Given the description of an element on the screen output the (x, y) to click on. 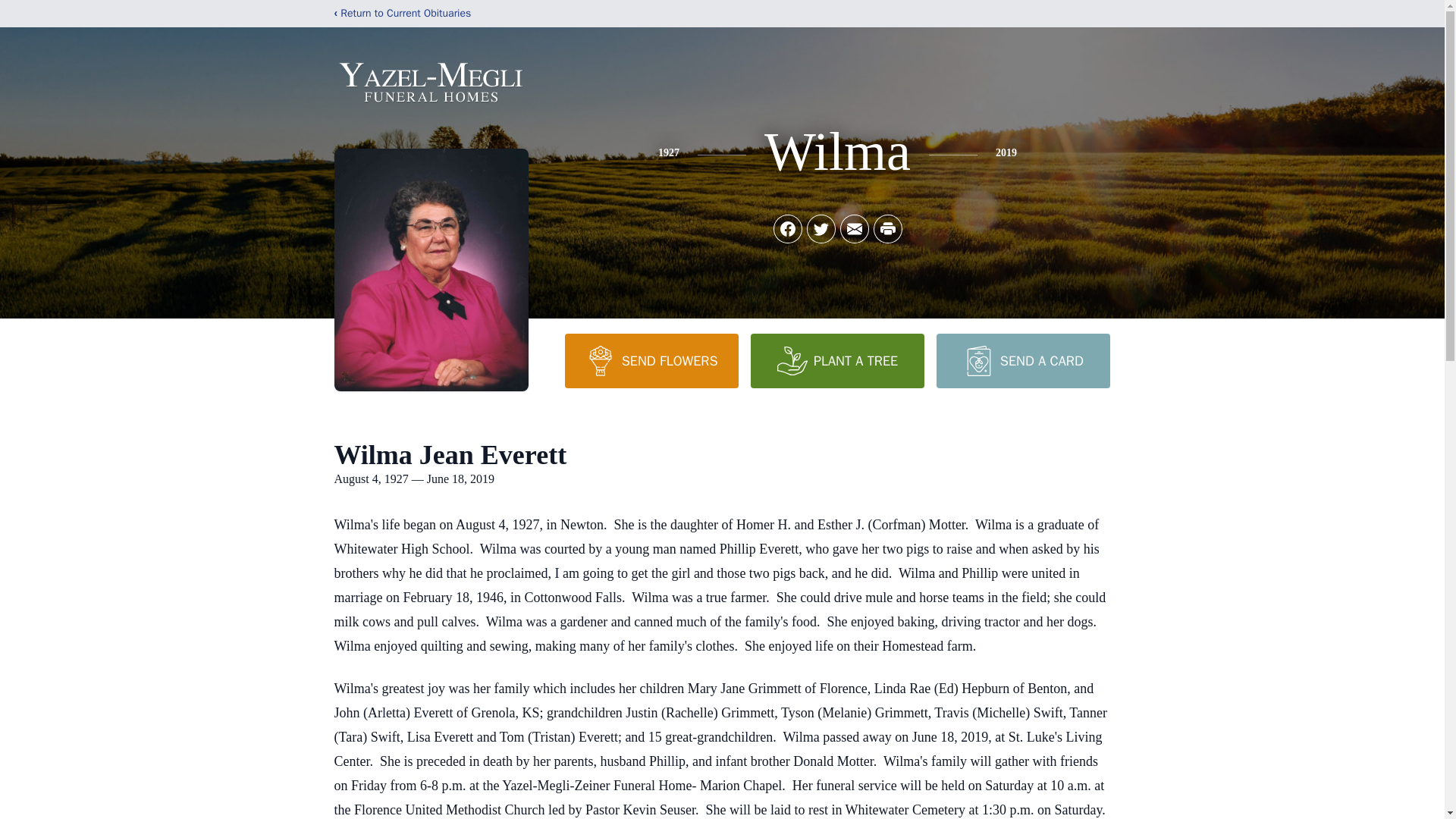
SEND FLOWERS (651, 360)
PLANT A TREE (837, 360)
SEND A CARD (1022, 360)
